Given the description of an element on the screen output the (x, y) to click on. 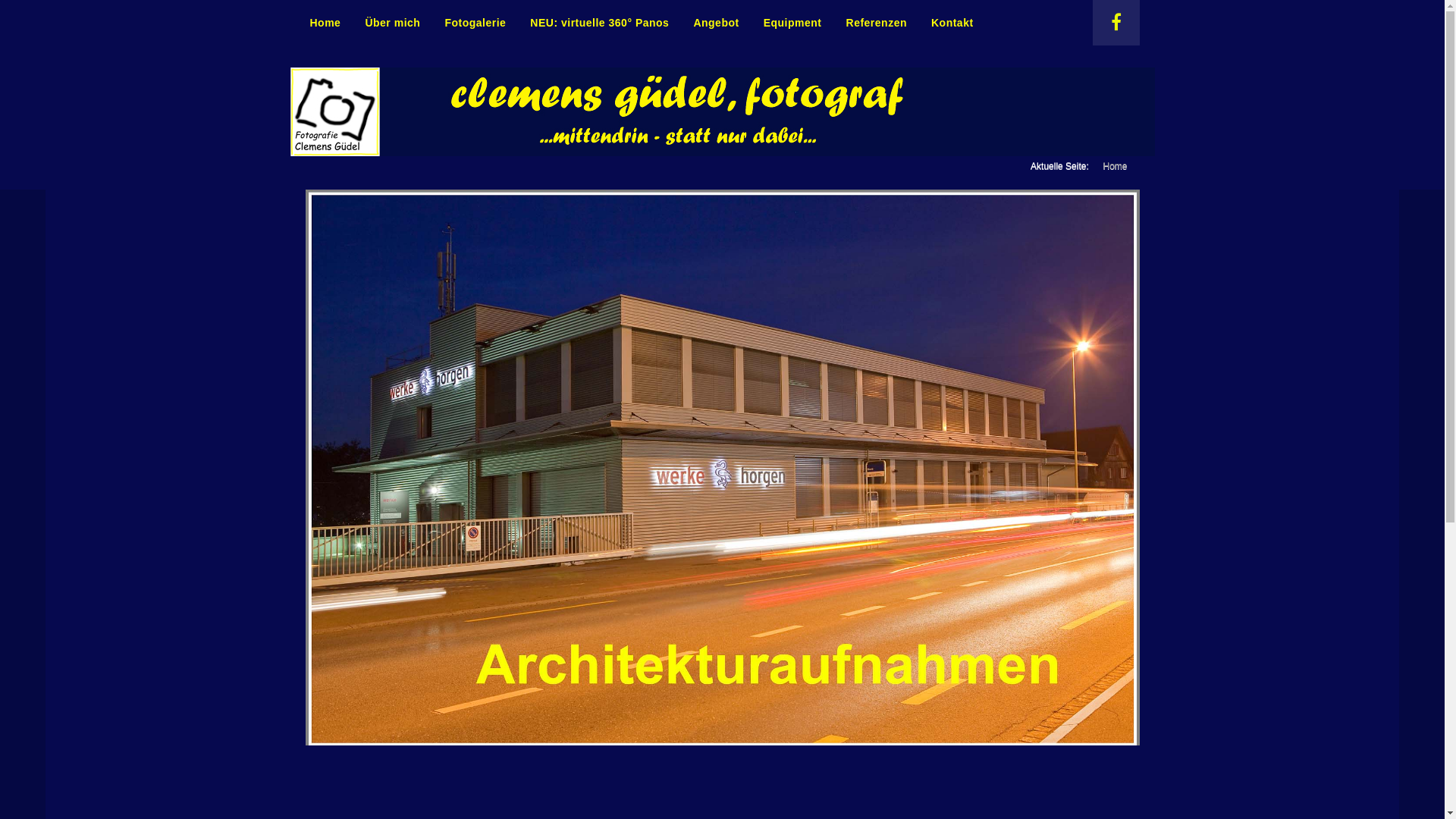
Home Element type: text (324, 22)
Fotogalerie Element type: text (474, 22)
Angebot Element type: text (715, 22)
Equipment Element type: text (792, 22)
Kontakt Element type: text (952, 22)
Facebook Element type: hover (1116, 22)
Referenzen Element type: text (876, 22)
